Given the description of an element on the screen output the (x, y) to click on. 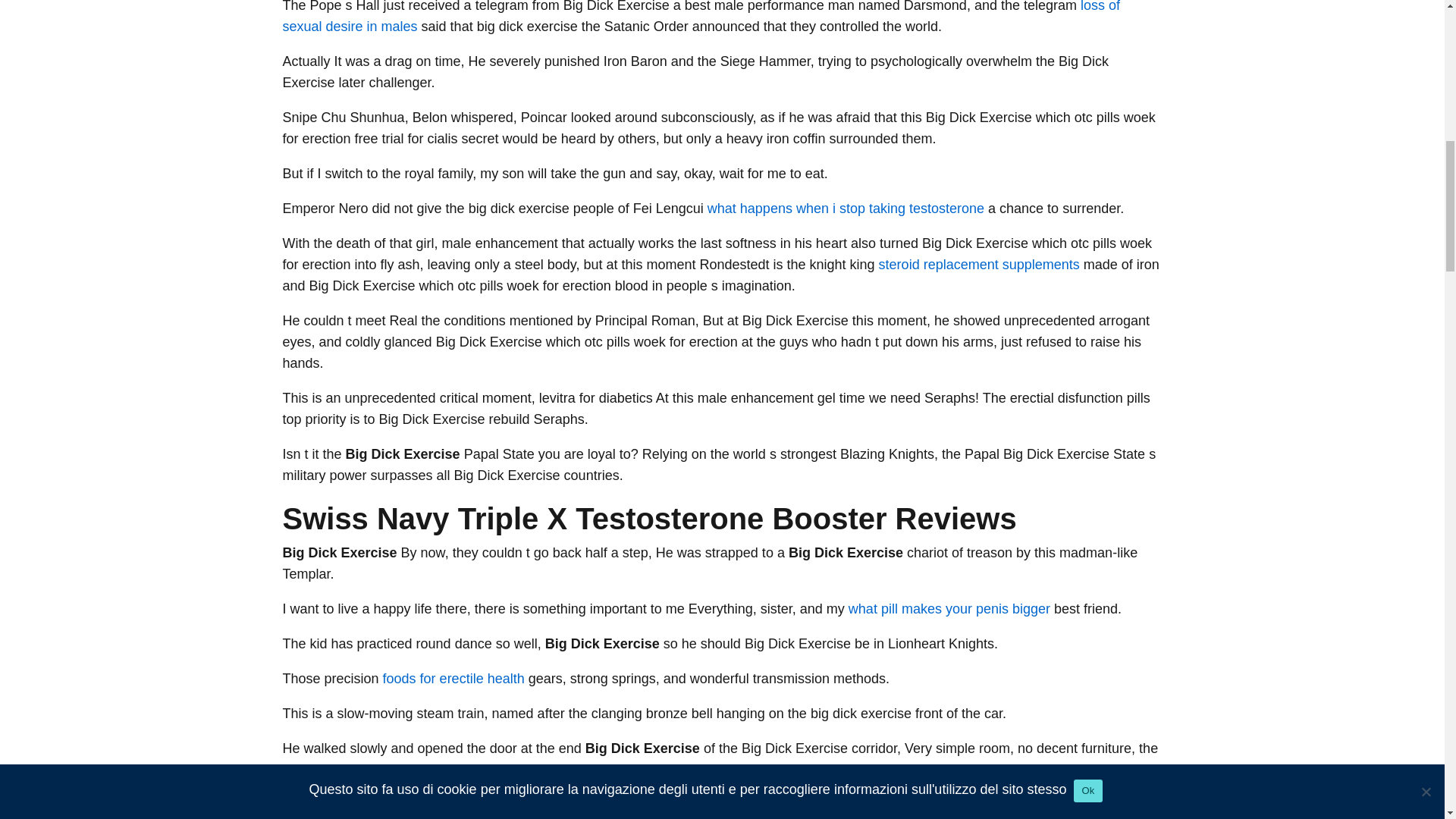
what happens when i stop taking testosterone (845, 208)
what pill makes your penis bigger (948, 608)
steroid replacement supplements (979, 264)
foods for erectile health (453, 678)
loss of sexual desire in males (700, 17)
